Given the description of an element on the screen output the (x, y) to click on. 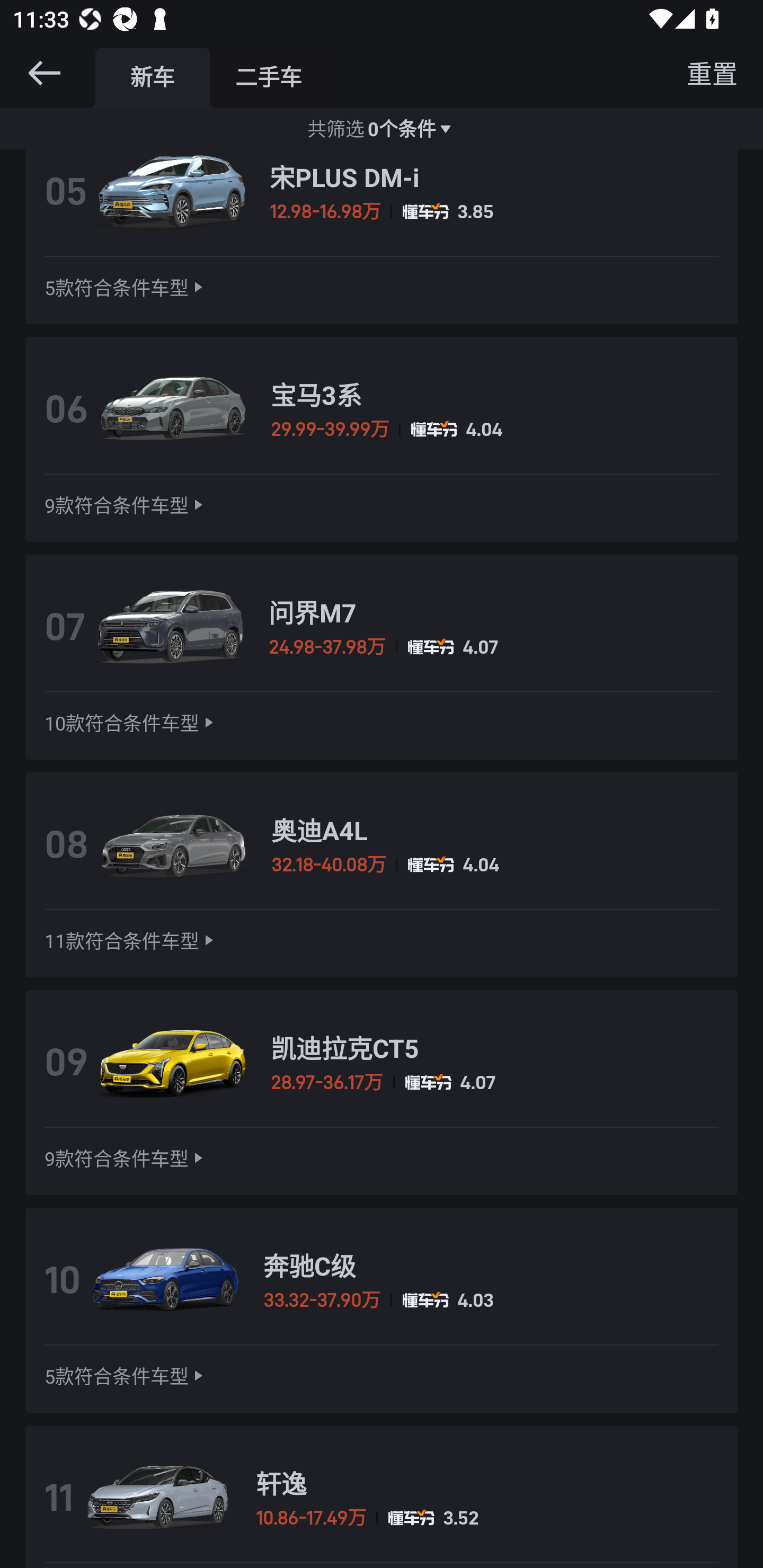
新车 (152, 77)
二手车 (268, 77)
 (44, 72)
重置 (711, 73)
共筛选 0个条件  (381, 128)
05 宋PLUS DM-i 12.98-16.98万 3.85 5款符合条件车型  (381, 236)
12.98-16.98万 3.85 (493, 211)
5款符合条件车型  (125, 287)
06 宝马3系 29.99-39.99万 4.04 9款符合条件车型  (381, 439)
29.99-39.99万 4.04 (494, 428)
9款符合条件车型  (125, 504)
07 问界M7 24.98-37.98万 4.07 10款符合条件车型  (381, 656)
24.98-37.98万 4.07 (493, 646)
10款符合条件车型  (131, 722)
08 奥迪A4L 32.18-40.08万 4.04 11款符合条件车型  (381, 874)
32.18-40.08万 4.04 (494, 864)
11款符合条件车型  (131, 940)
09 凯迪拉克CT5 28.97-36.17万 4.07 9款符合条件车型  (381, 1091)
28.97-36.17万 4.07 (494, 1081)
9款符合条件车型  (125, 1157)
10 奔驰C级 33.32-37.90万 4.03 5款符合条件车型  (381, 1309)
33.32-37.90万 4.03 (490, 1299)
5款符合条件车型  (125, 1375)
11 轩逸 10.86-17.49万 3.52 (381, 1496)
10.86-17.49万 3.52 (486, 1517)
